Given the description of an element on the screen output the (x, y) to click on. 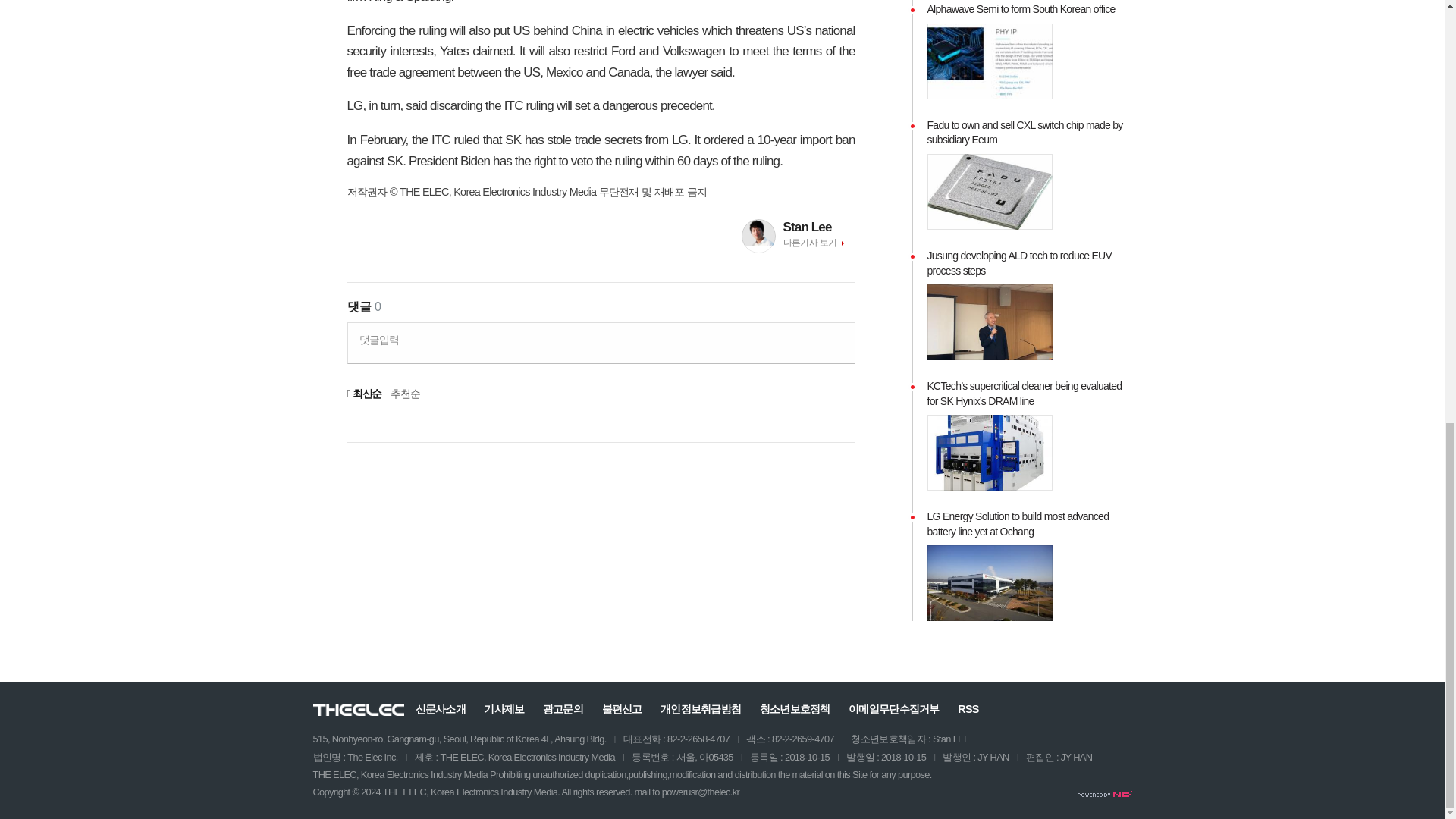
Stan Lee (818, 227)
